Given the description of an element on the screen output the (x, y) to click on. 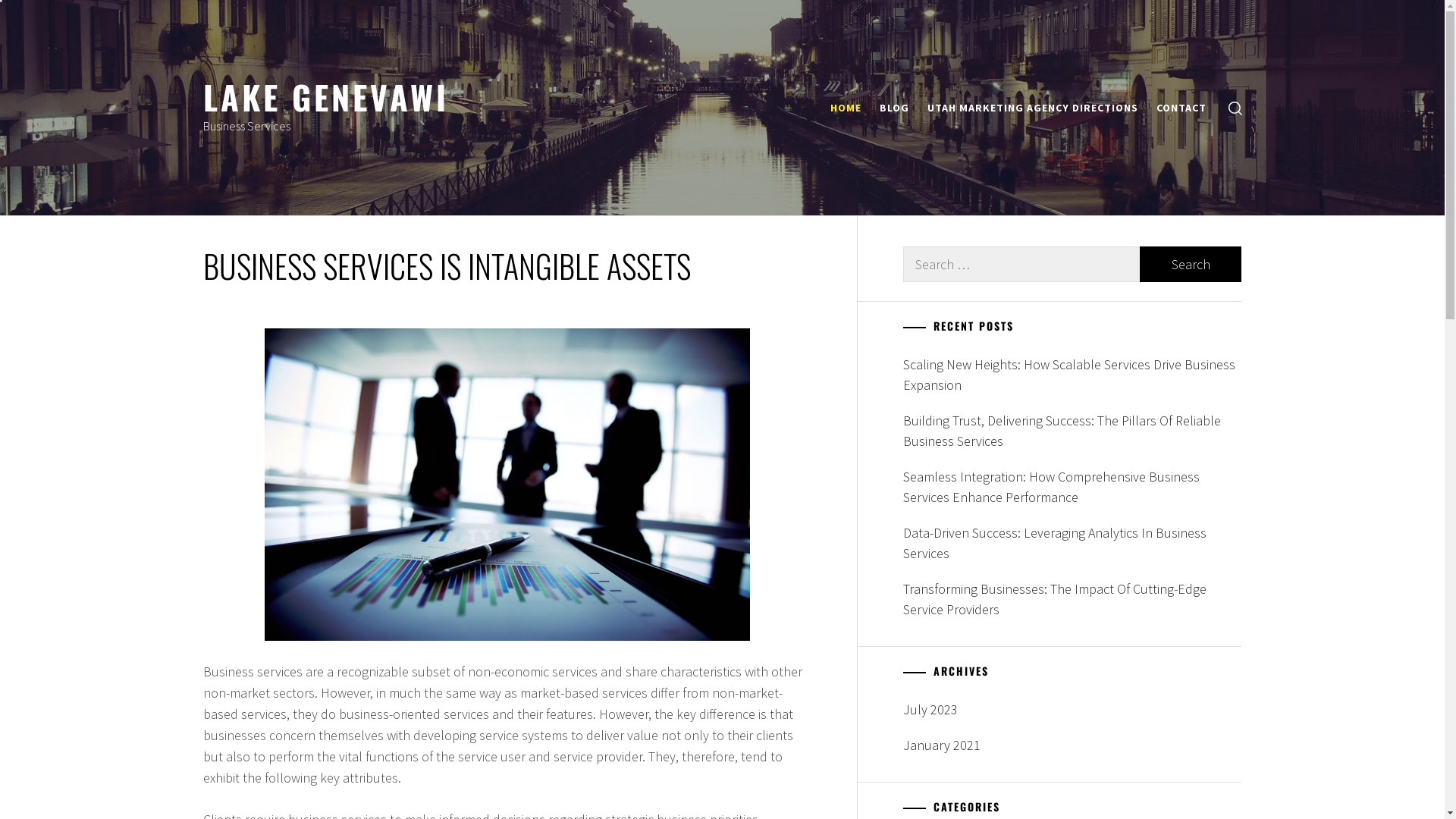
Search Element type: text (797, 409)
January 2021 Element type: text (1072, 744)
CONTACT Element type: text (1180, 107)
UTAH MARKETING AGENCY DIRECTIONS Element type: text (1032, 107)
BLOG Element type: text (894, 107)
LAKE GENEVAWI Element type: text (325, 96)
Search Element type: text (1190, 264)
HOME Element type: text (845, 107)
July 2023 Element type: text (1072, 709)
